Given the description of an element on the screen output the (x, y) to click on. 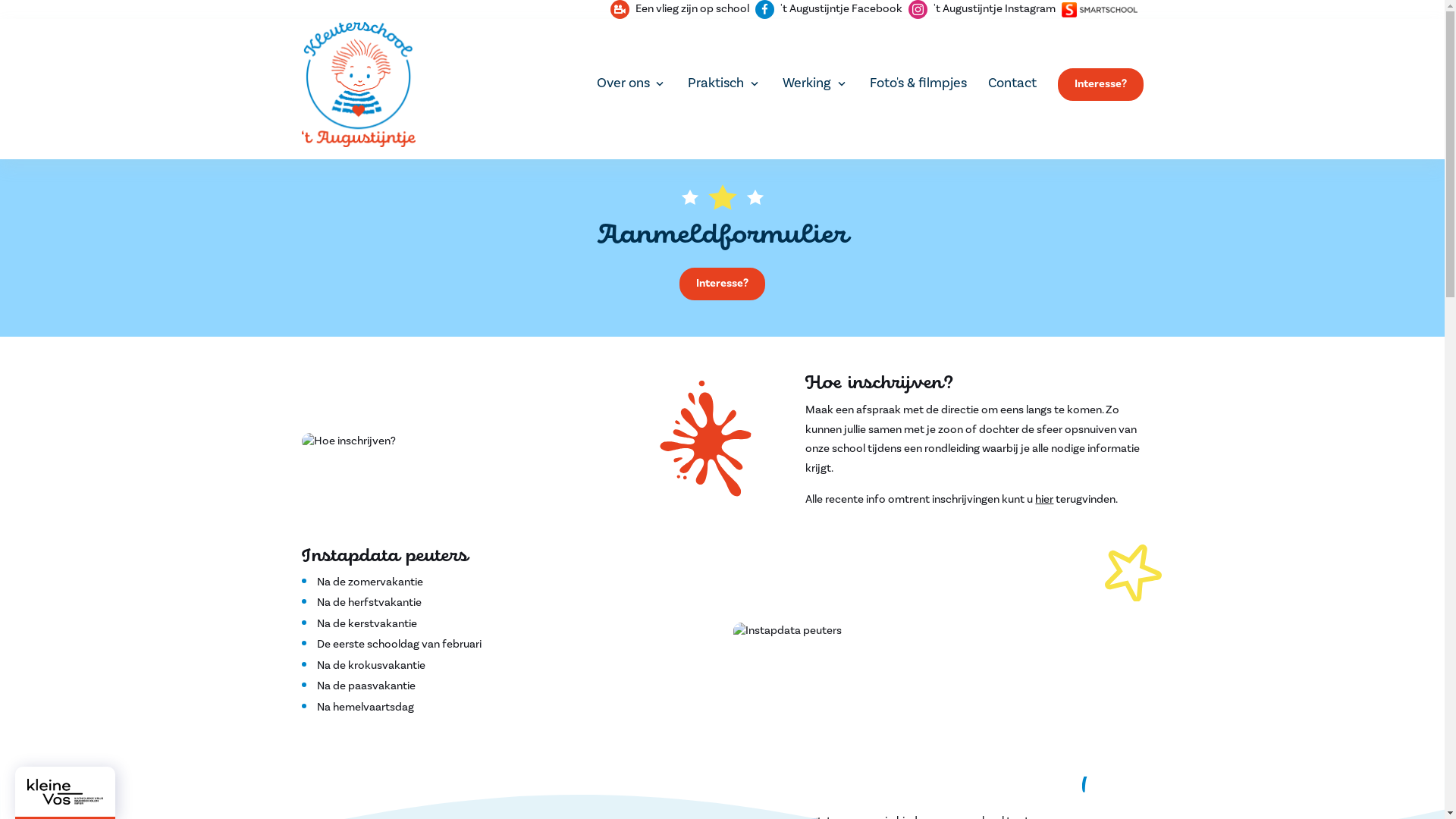
Werking Element type: text (815, 82)
't Augustijntje Smartschool Element type: hover (1099, 8)
't Augustijntje Facebook Element type: text (828, 9)
kleine Vos | Katholieke Vrije Basisscholen Ieper Element type: hover (65, 790)
Interesse? Element type: text (722, 283)
Contact Element type: text (1011, 82)
hier Element type: text (1044, 499)
Praktisch Element type: text (724, 82)
't Augustijntje Instagram Element type: text (981, 9)
Een vlieg zijn op school Element type: text (679, 9)
Over ons Element type: text (631, 82)
VKS 't Augustijntje Element type: hover (358, 84)
Foto's & filmpjes Element type: text (917, 82)
Interesse? Element type: text (1099, 84)
